Given the description of an element on the screen output the (x, y) to click on. 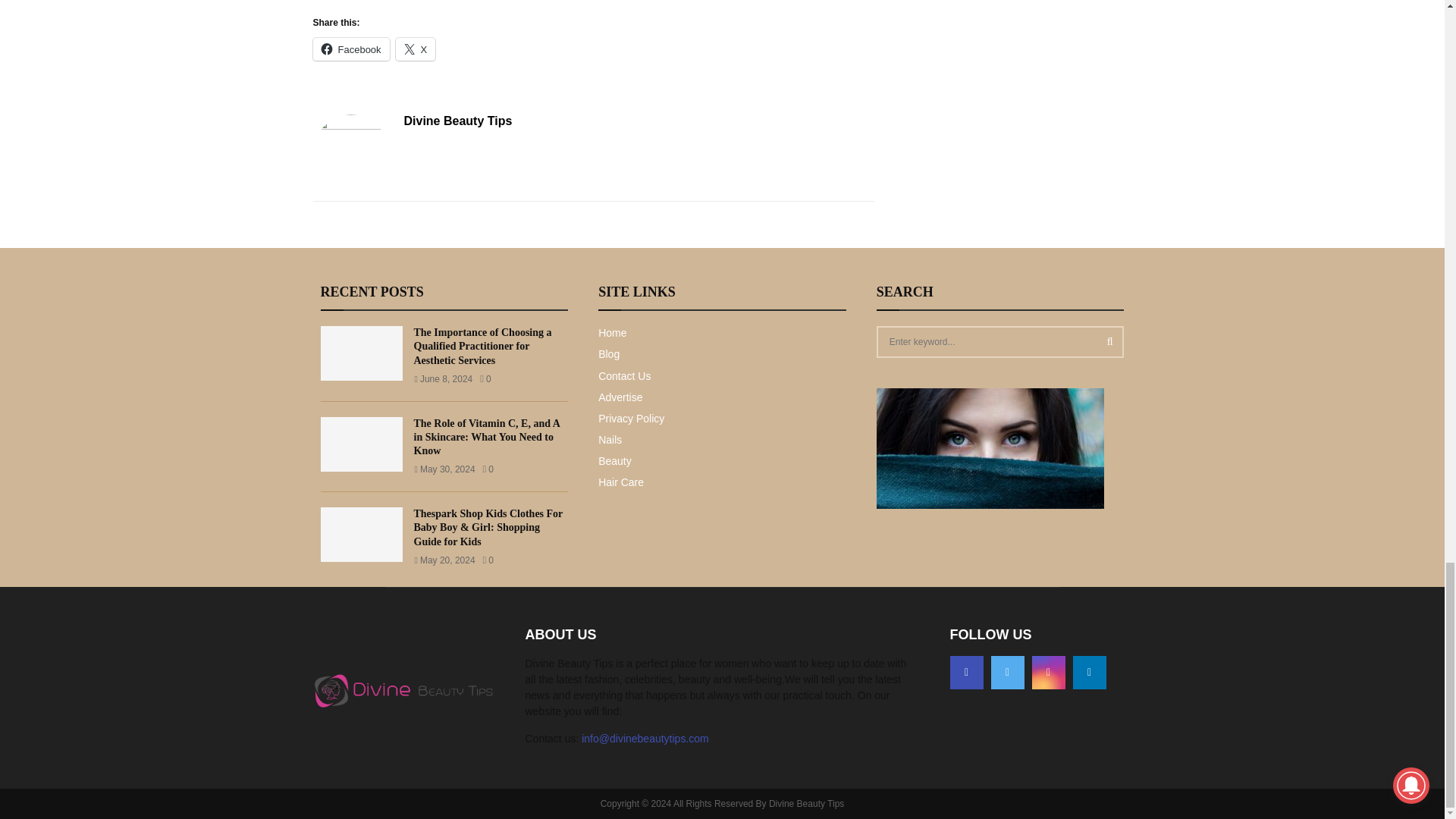
Divine Beauty Tips (457, 121)
Facebook (350, 48)
X (415, 48)
Click to share on Facebook (350, 48)
Posts by Divine Beauty Tips (457, 121)
0 (485, 378)
Click to share on X (415, 48)
